Given the description of an element on the screen output the (x, y) to click on. 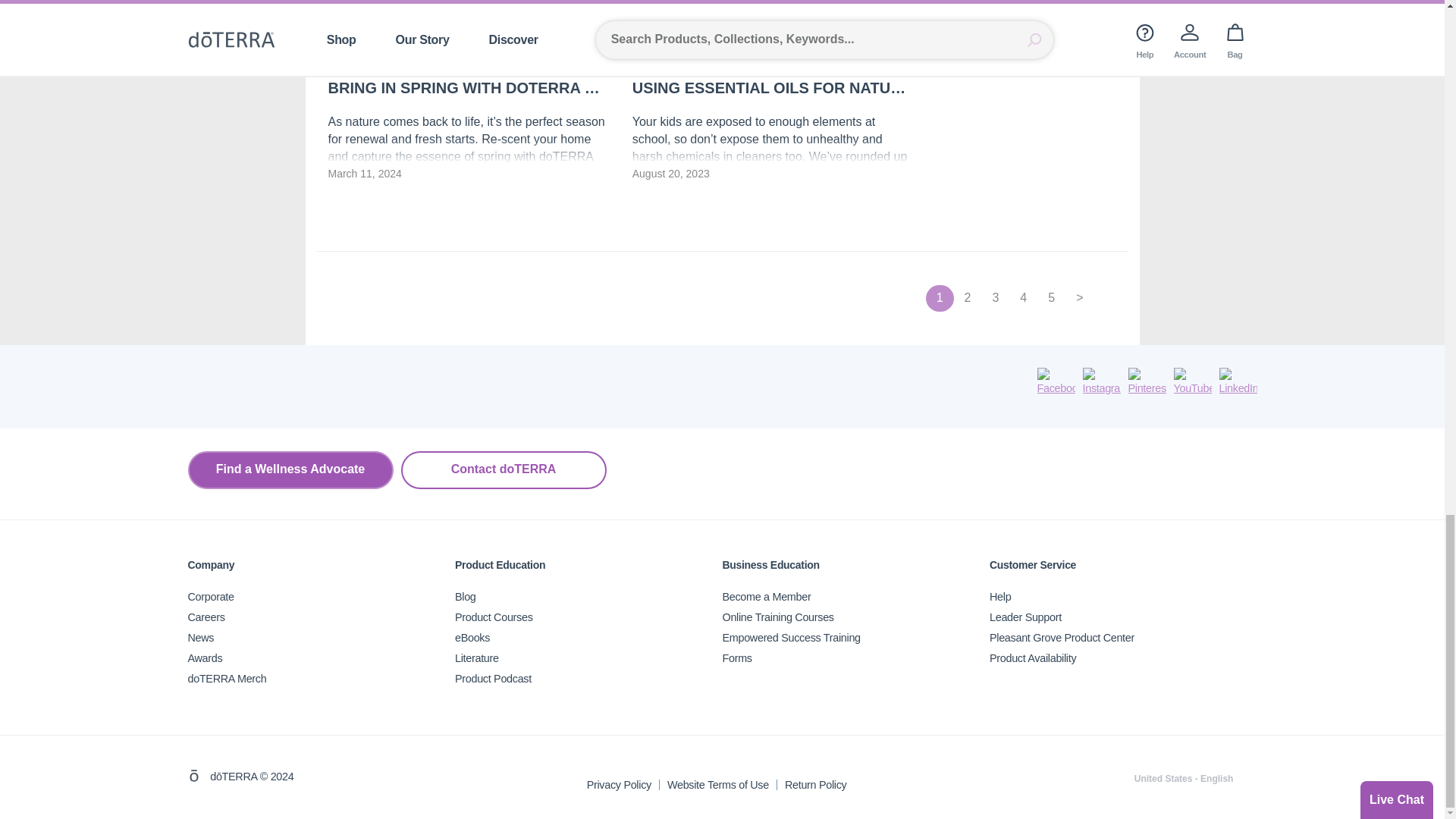
Pinterest (1147, 382)
Facebook (1055, 382)
YouTube (1192, 382)
LinkedIn (1238, 382)
Instagram (1102, 382)
